Given the description of an element on the screen output the (x, y) to click on. 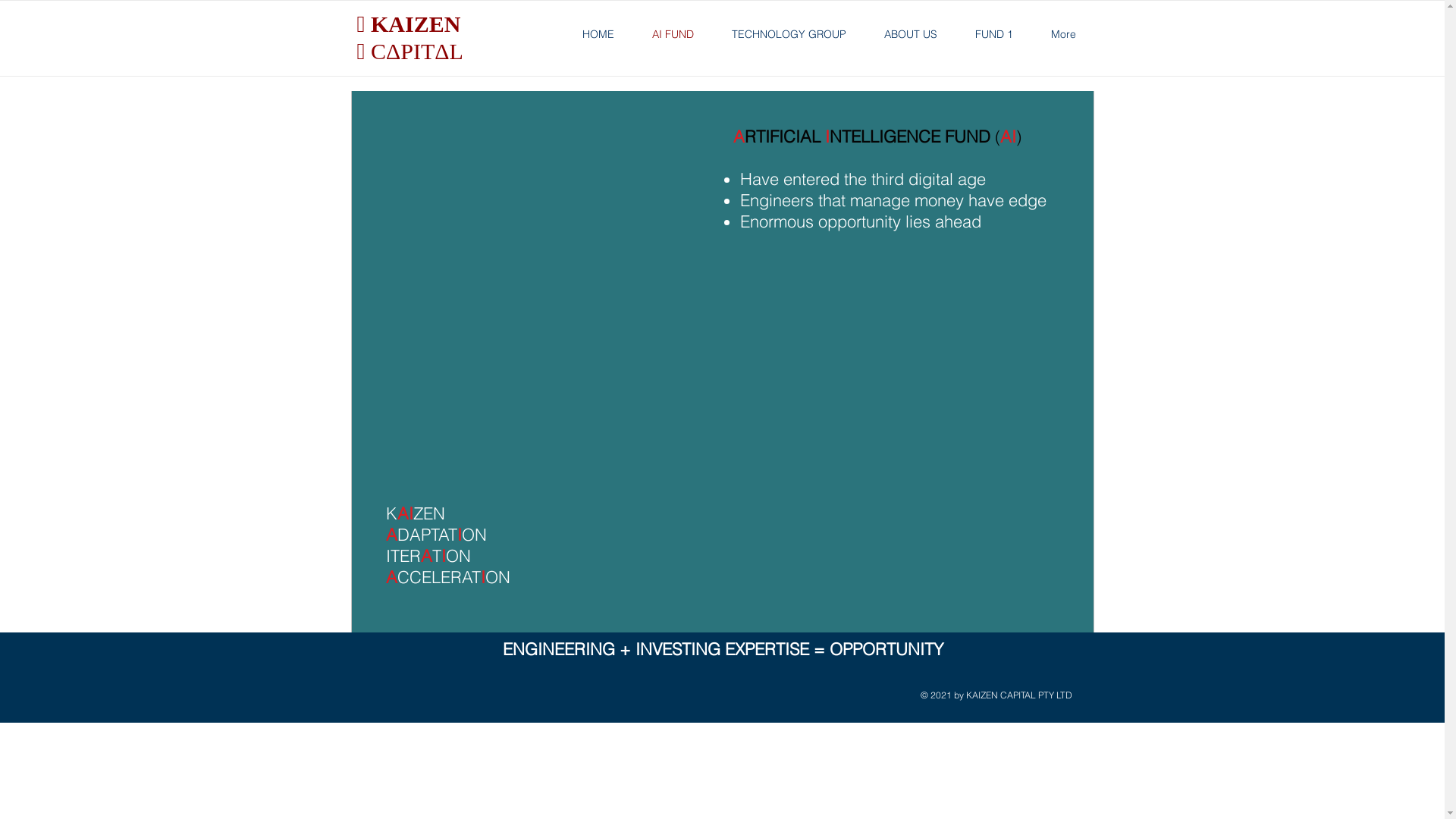
HOME Element type: text (597, 33)
AI FUND Element type: text (672, 33)
ABOUT US Element type: text (909, 33)
TECHNOLOGY GROUP Element type: text (788, 33)
FUND 1 Element type: text (993, 33)
